Given the description of an element on the screen output the (x, y) to click on. 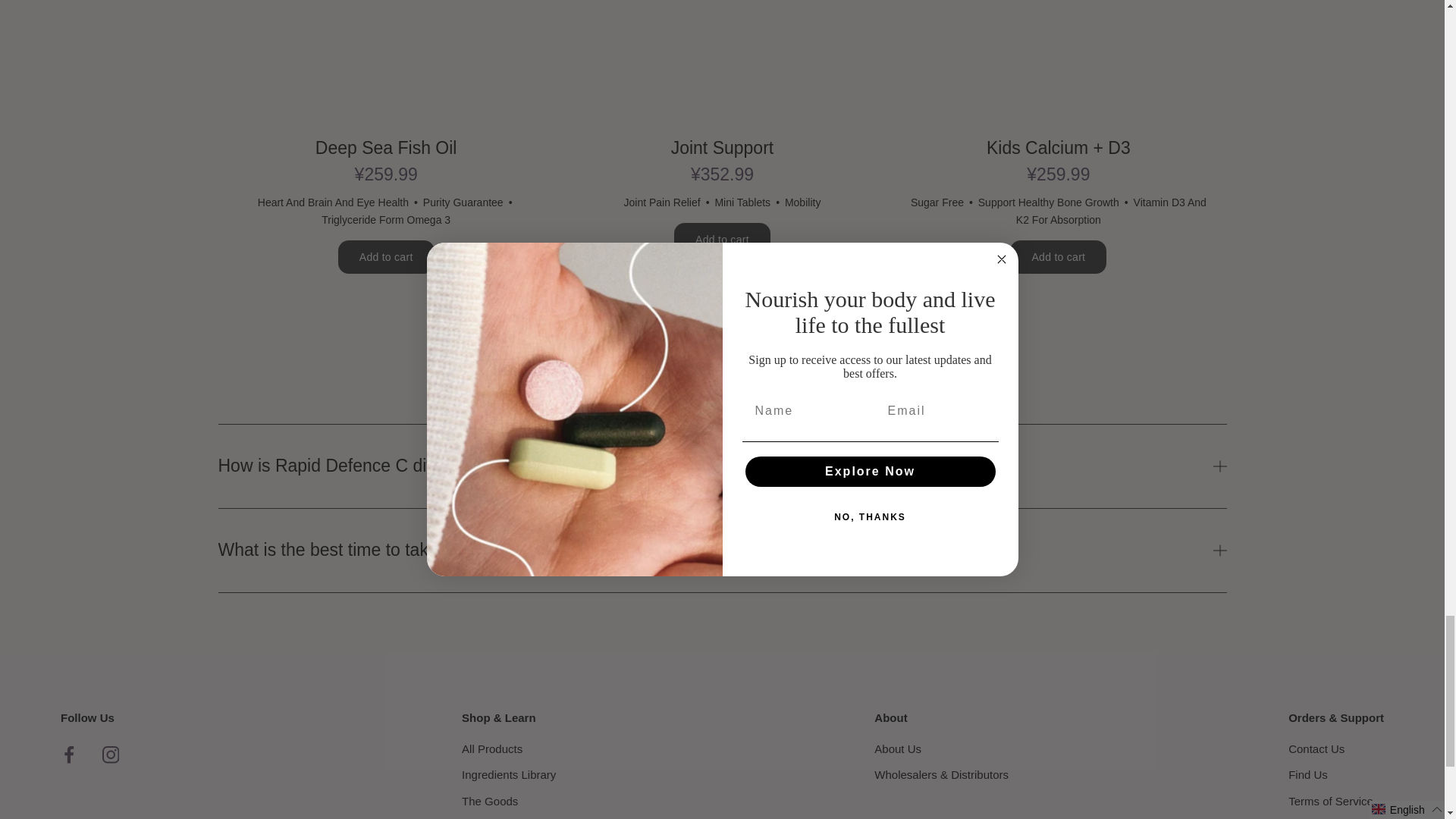
Add to cart (1058, 256)
Add to cart (722, 239)
Add to cart (385, 256)
